Given the description of an element on the screen output the (x, y) to click on. 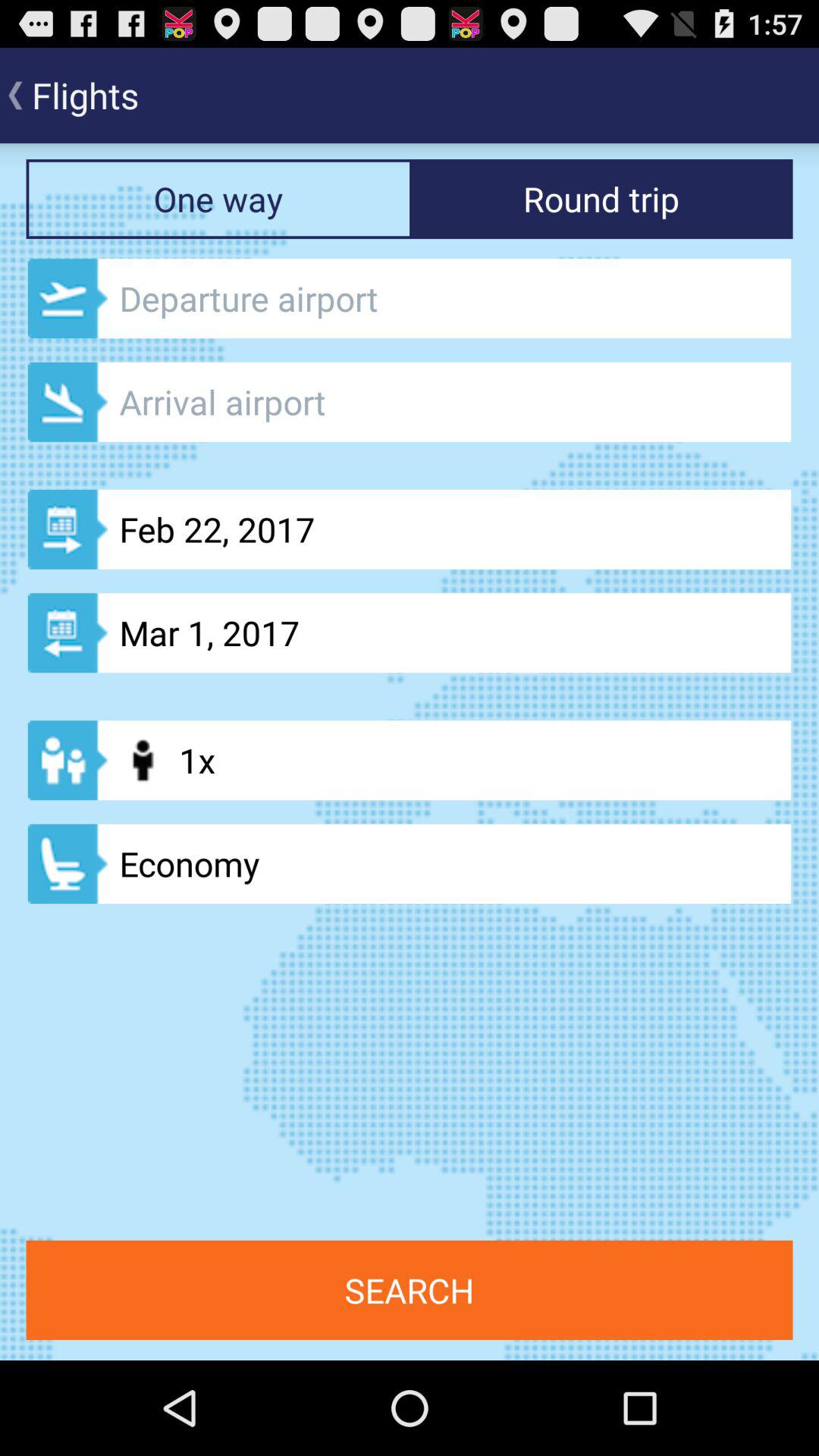
select date (409, 401)
